Given the description of an element on the screen output the (x, y) to click on. 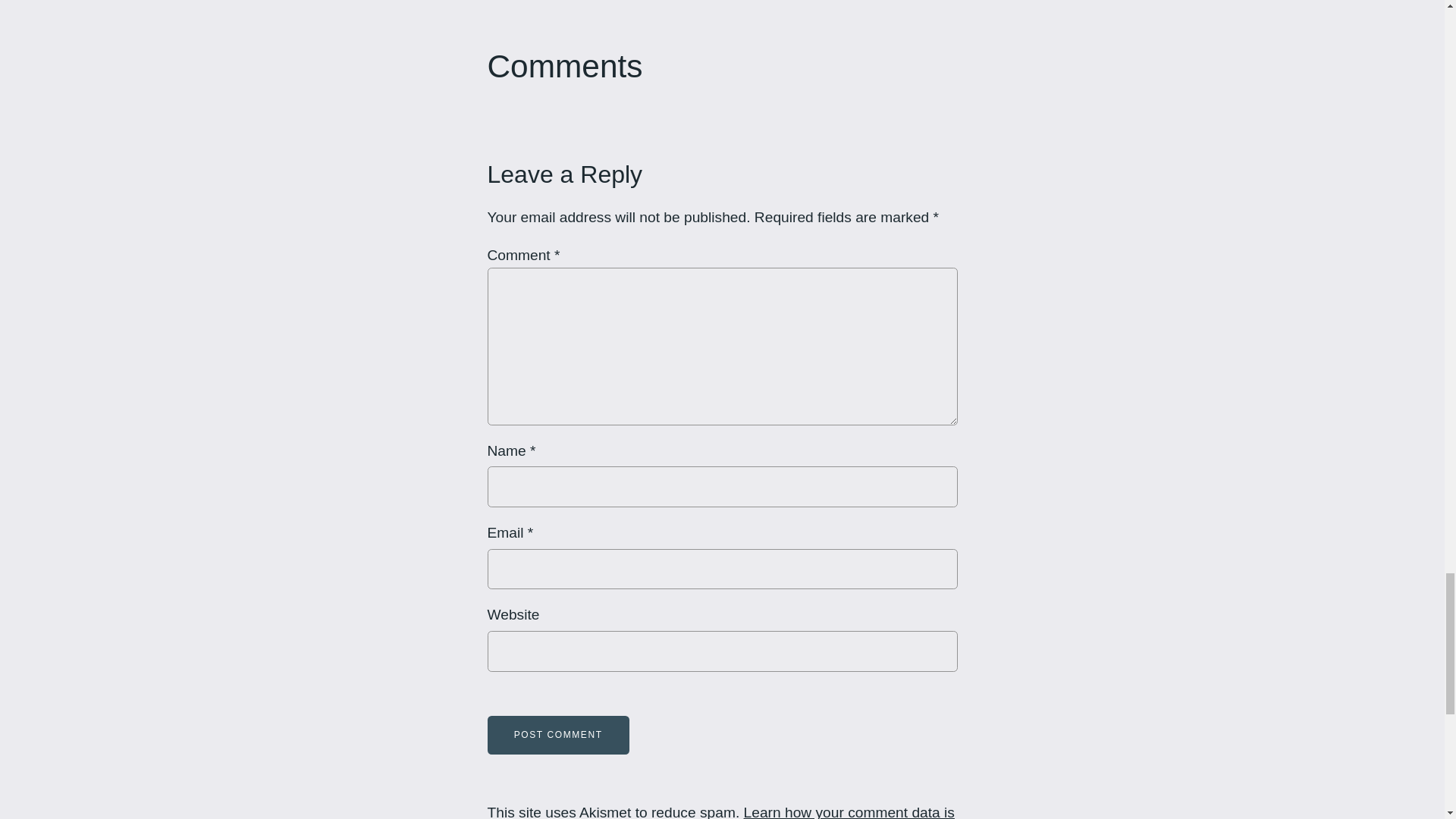
Post Comment (557, 734)
Post Comment (557, 734)
Learn how your comment data is processed (719, 811)
